Given the description of an element on the screen output the (x, y) to click on. 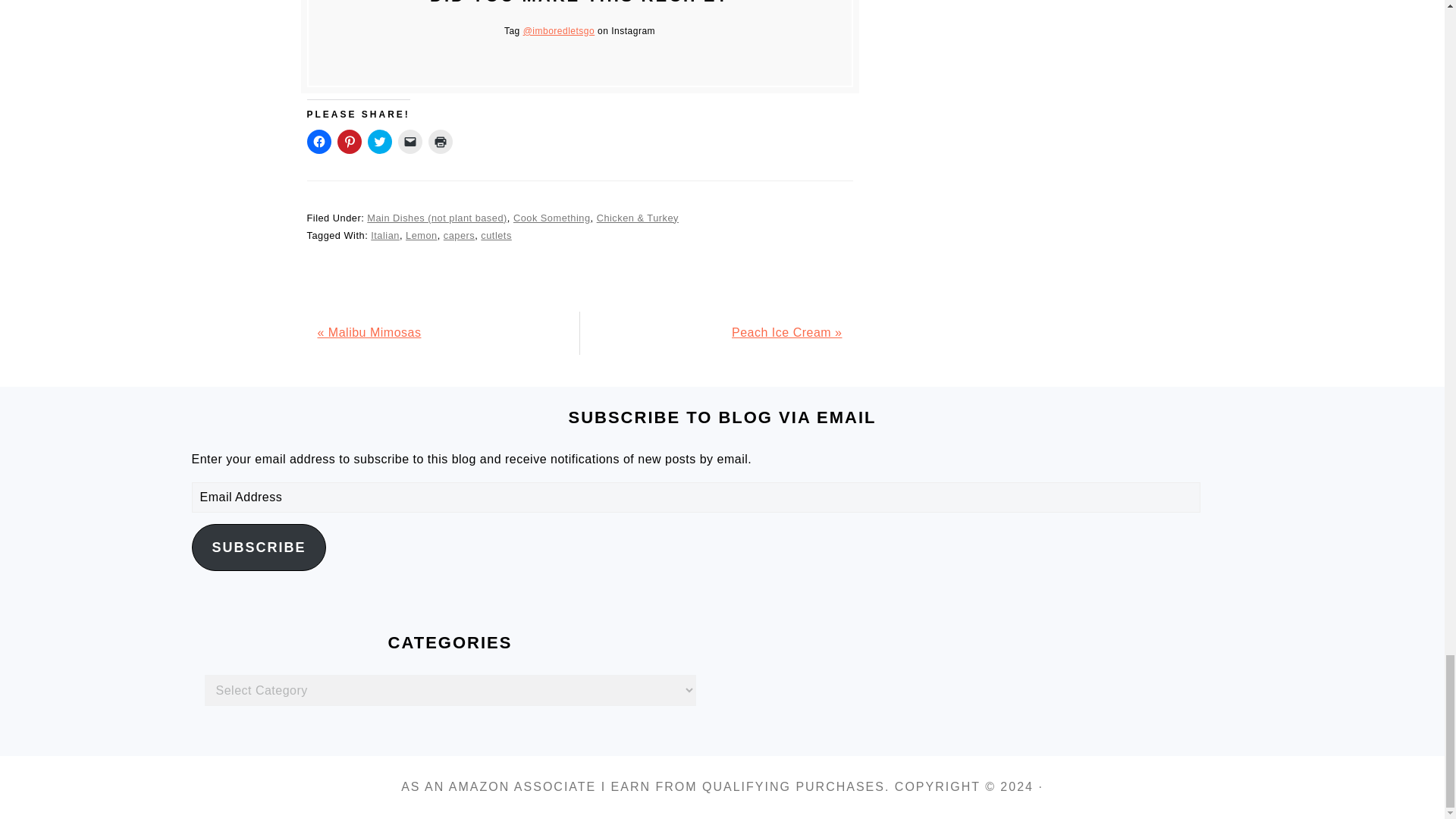
Click to share on Twitter (378, 141)
Click to share on Facebook (317, 141)
Click to email a link to a friend (409, 141)
Click to share on Pinterest (348, 141)
Click to print (439, 141)
